Given the description of an element on the screen output the (x, y) to click on. 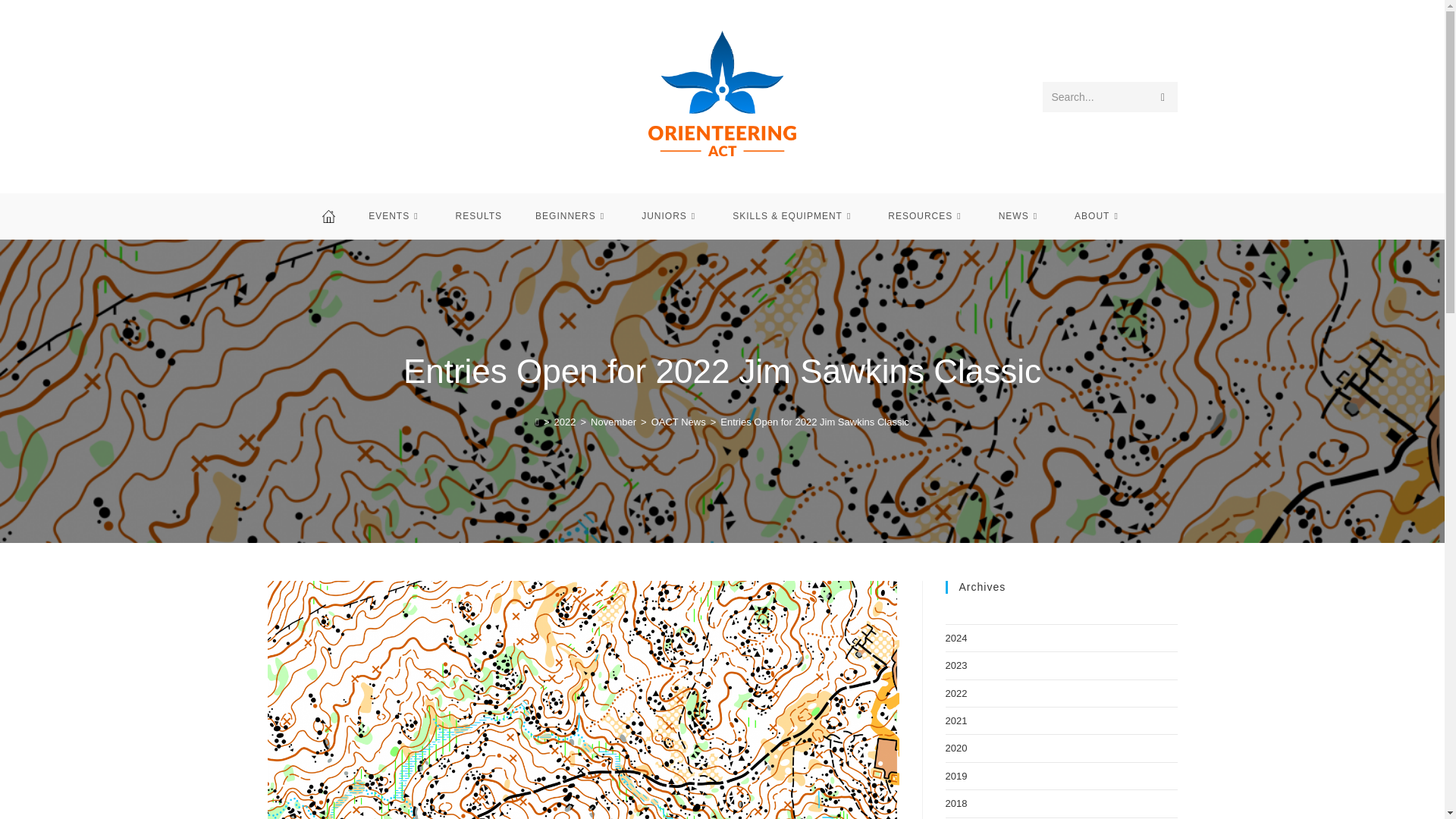
RESULTS (478, 216)
JUNIORS (670, 216)
NEWS (1019, 216)
RESOURCES (925, 216)
EVENTS (395, 216)
BEGINNERS (571, 216)
